Given the description of an element on the screen output the (x, y) to click on. 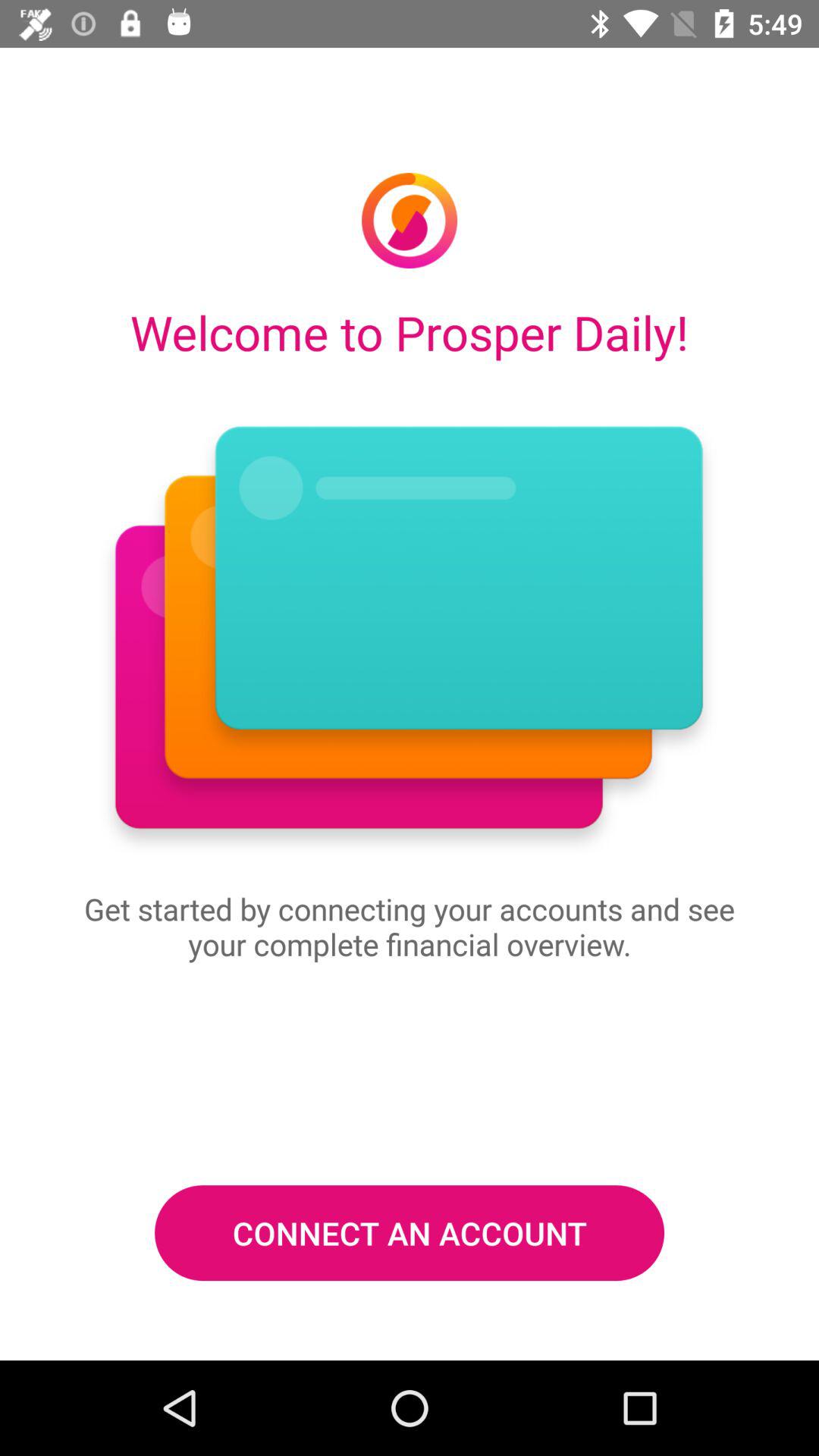
flip to the connect an account (409, 1232)
